Given the description of an element on the screen output the (x, y) to click on. 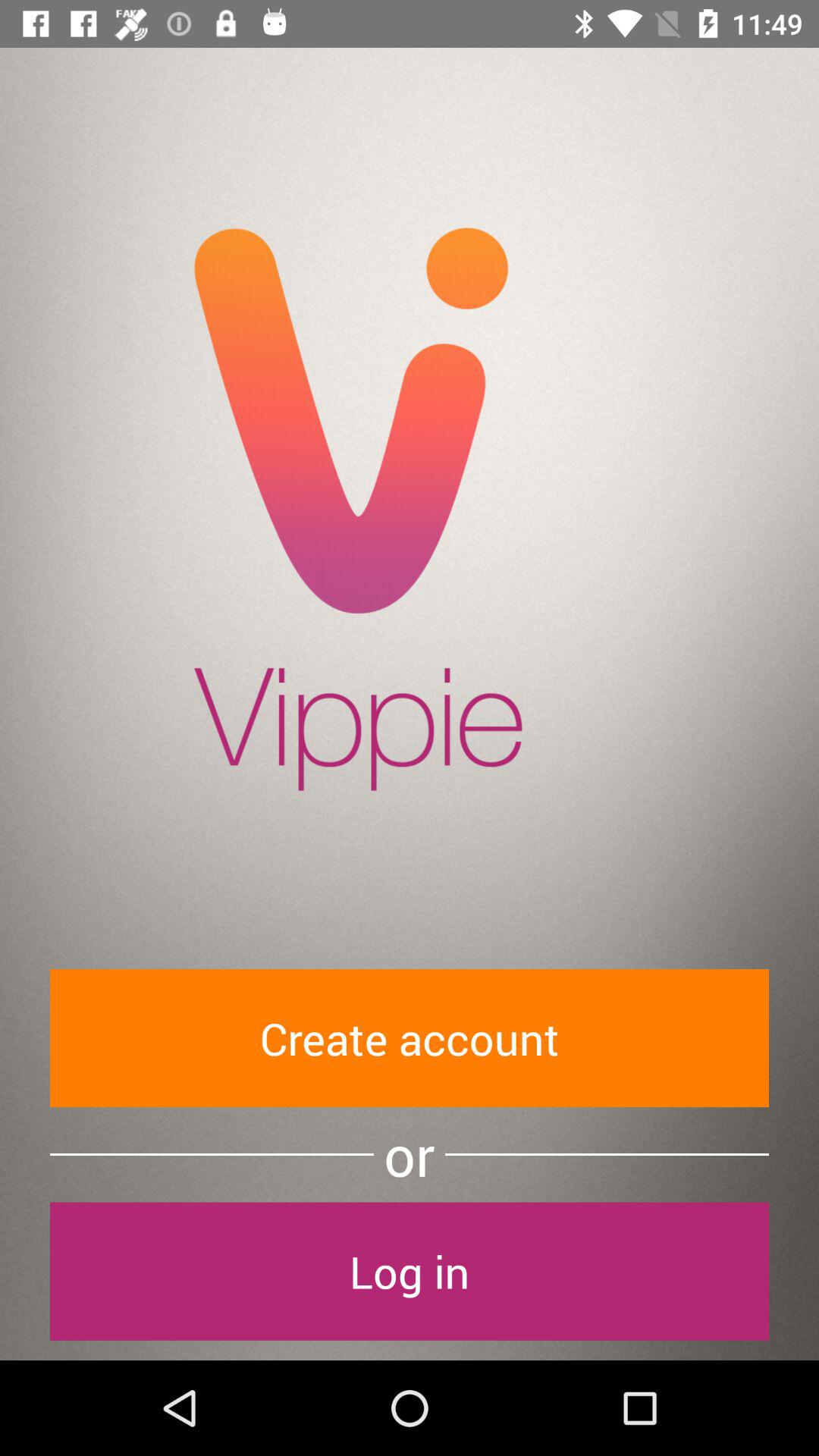
choose item below the or item (409, 1271)
